Given the description of an element on the screen output the (x, y) to click on. 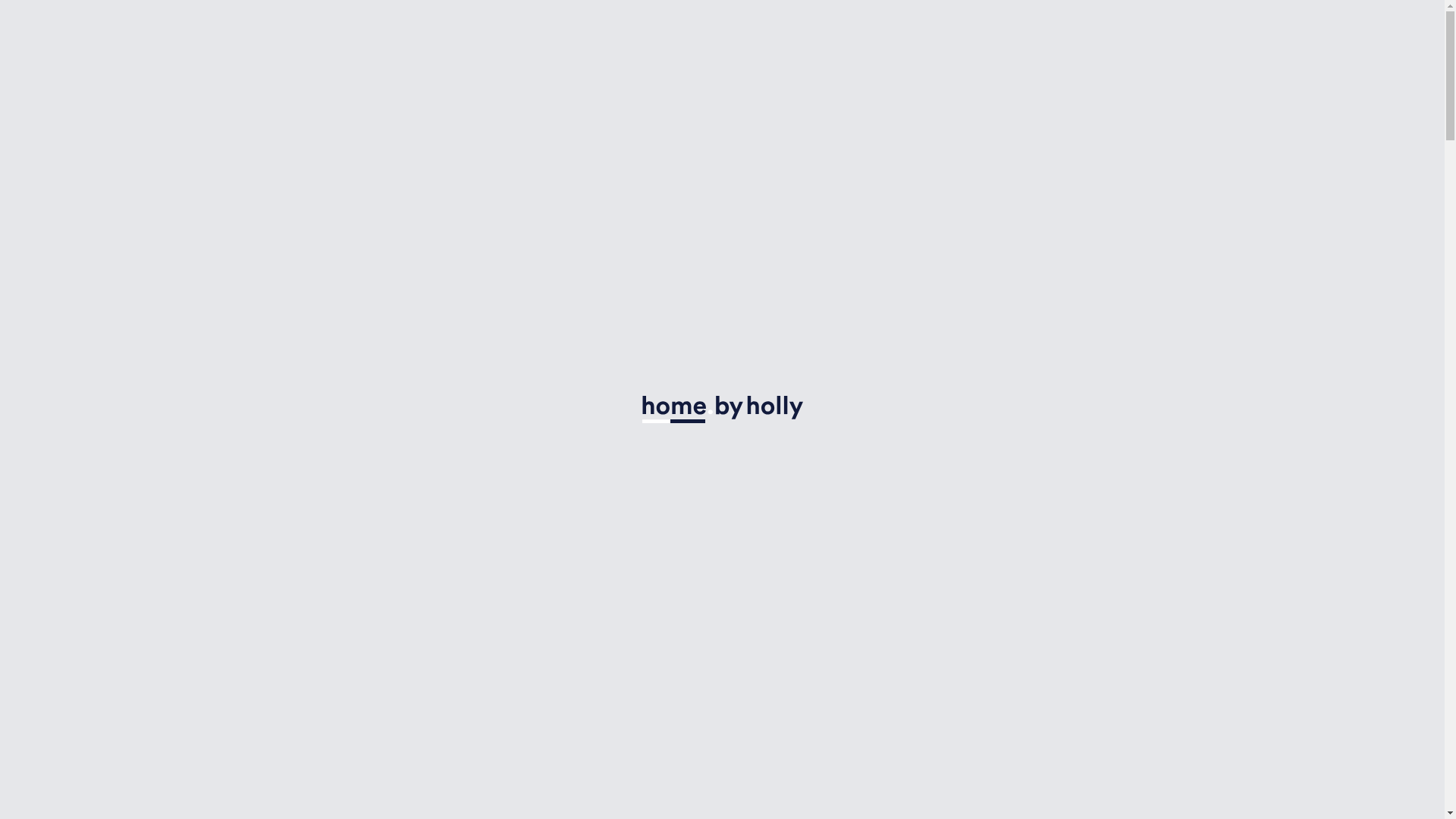
Menu Element type: text (1317, 63)
Home by Holly Element type: text (183, 70)
